Given the description of an element on the screen output the (x, y) to click on. 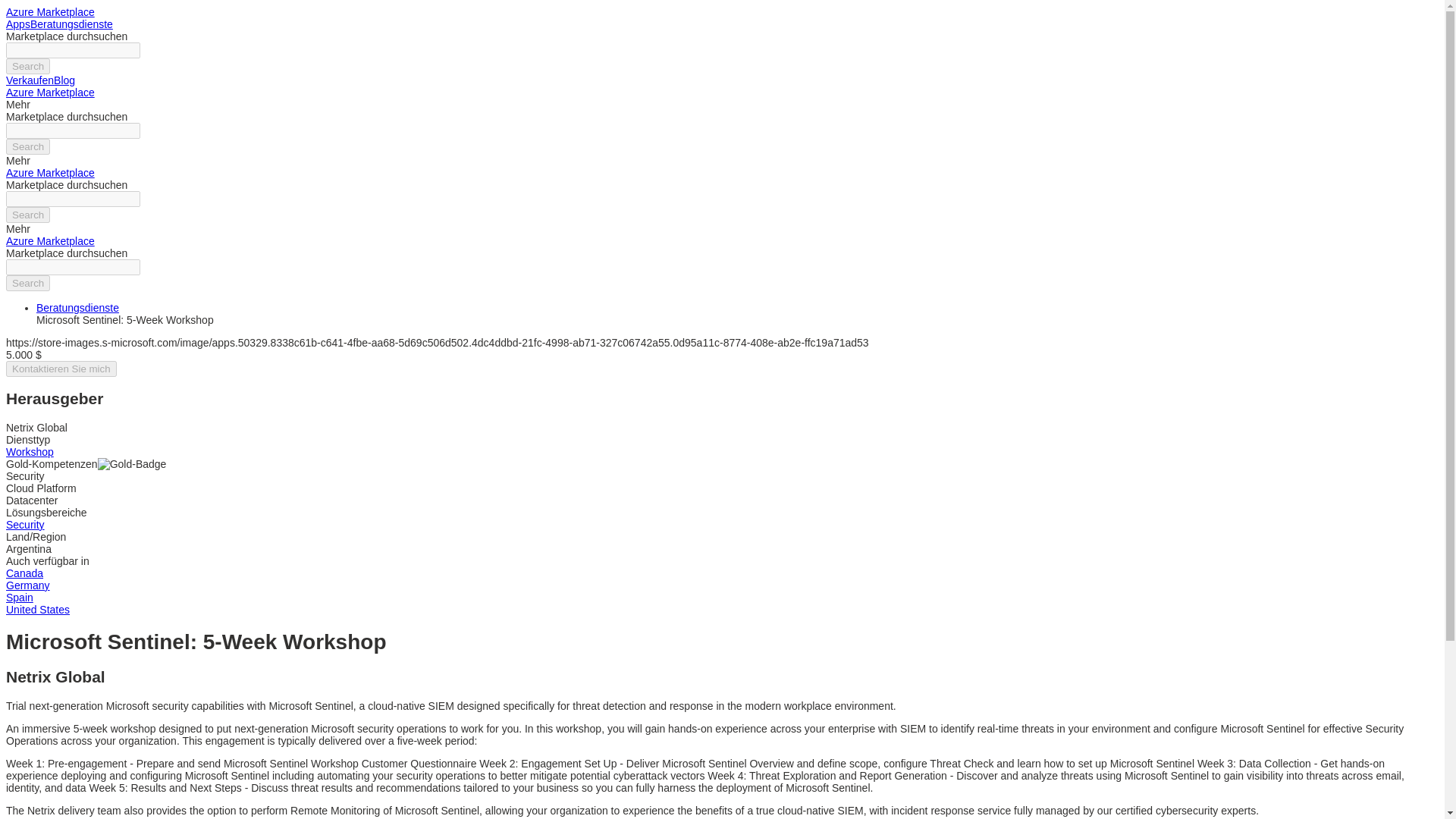
Search (27, 214)
Apps (17, 24)
Blog (64, 80)
Search (27, 146)
United States (37, 609)
Verkaufen (29, 80)
Azure Marketplace (49, 11)
Germany (27, 585)
Security (25, 524)
Canada (24, 573)
Azure Marketplace (49, 241)
Beratungsdienste (77, 307)
Azure Marketplace (49, 173)
Beratungsdienste (71, 24)
Azure Marketplace (49, 92)
